Given the description of an element on the screen output the (x, y) to click on. 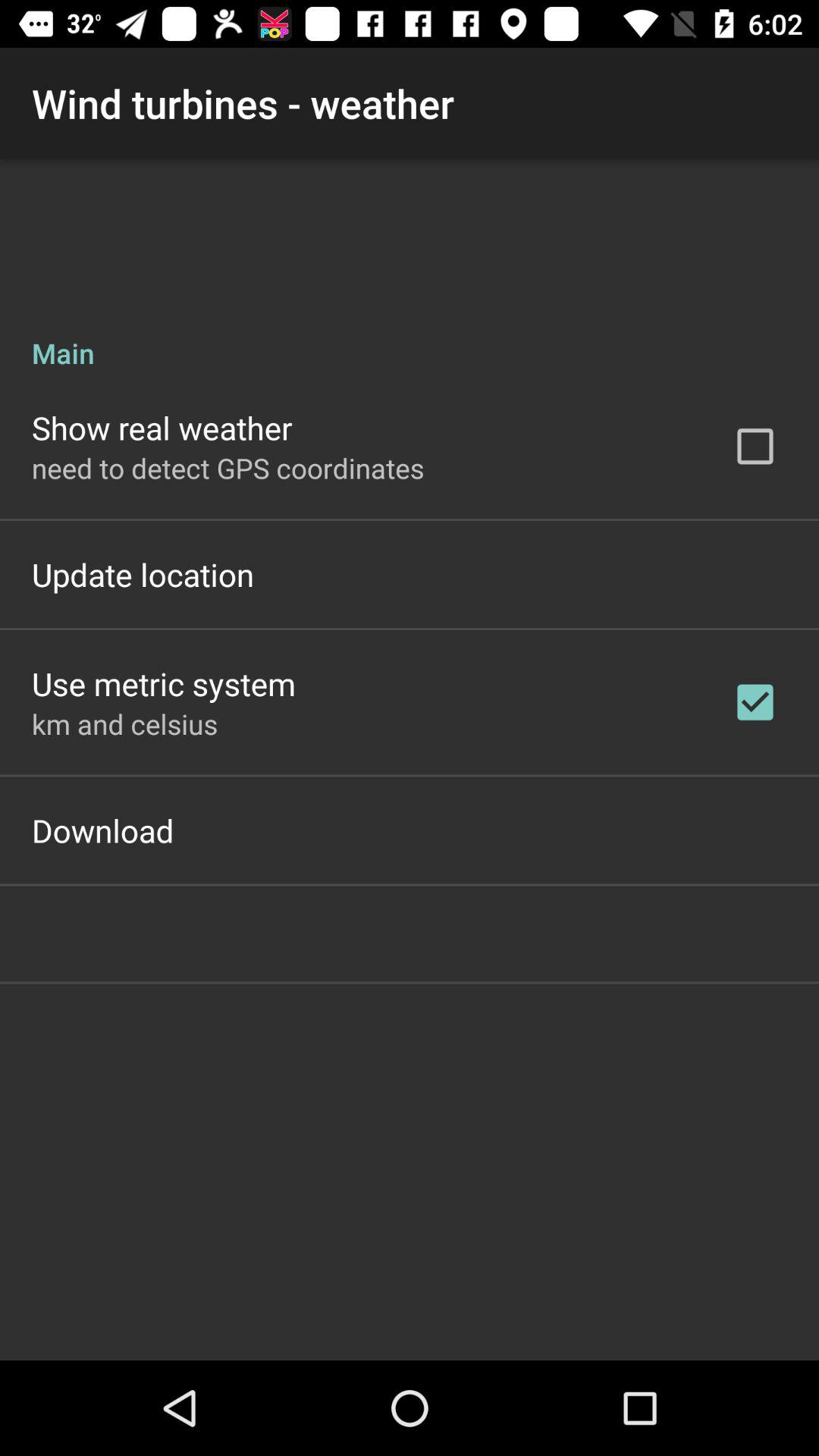
select app below need to detect app (142, 574)
